Given the description of an element on the screen output the (x, y) to click on. 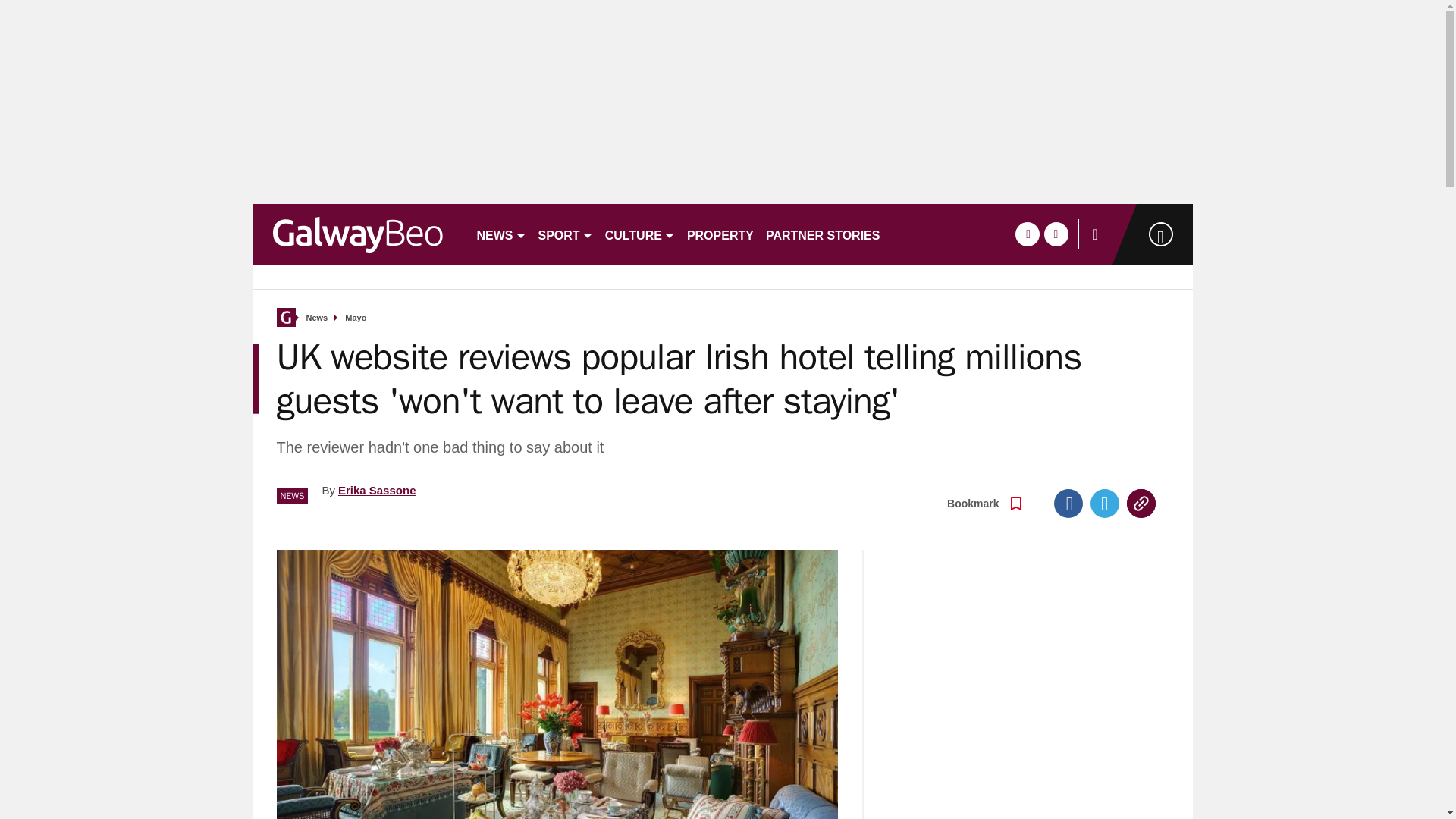
CULTURE (639, 233)
PROPERTY (720, 233)
SPORT (565, 233)
Facebook (1068, 502)
NEWS (500, 233)
twitter (1055, 233)
PARTNER STORIES (823, 233)
Twitter (1104, 502)
galwaybeo (357, 233)
facebook (1026, 233)
